Given the description of an element on the screen output the (x, y) to click on. 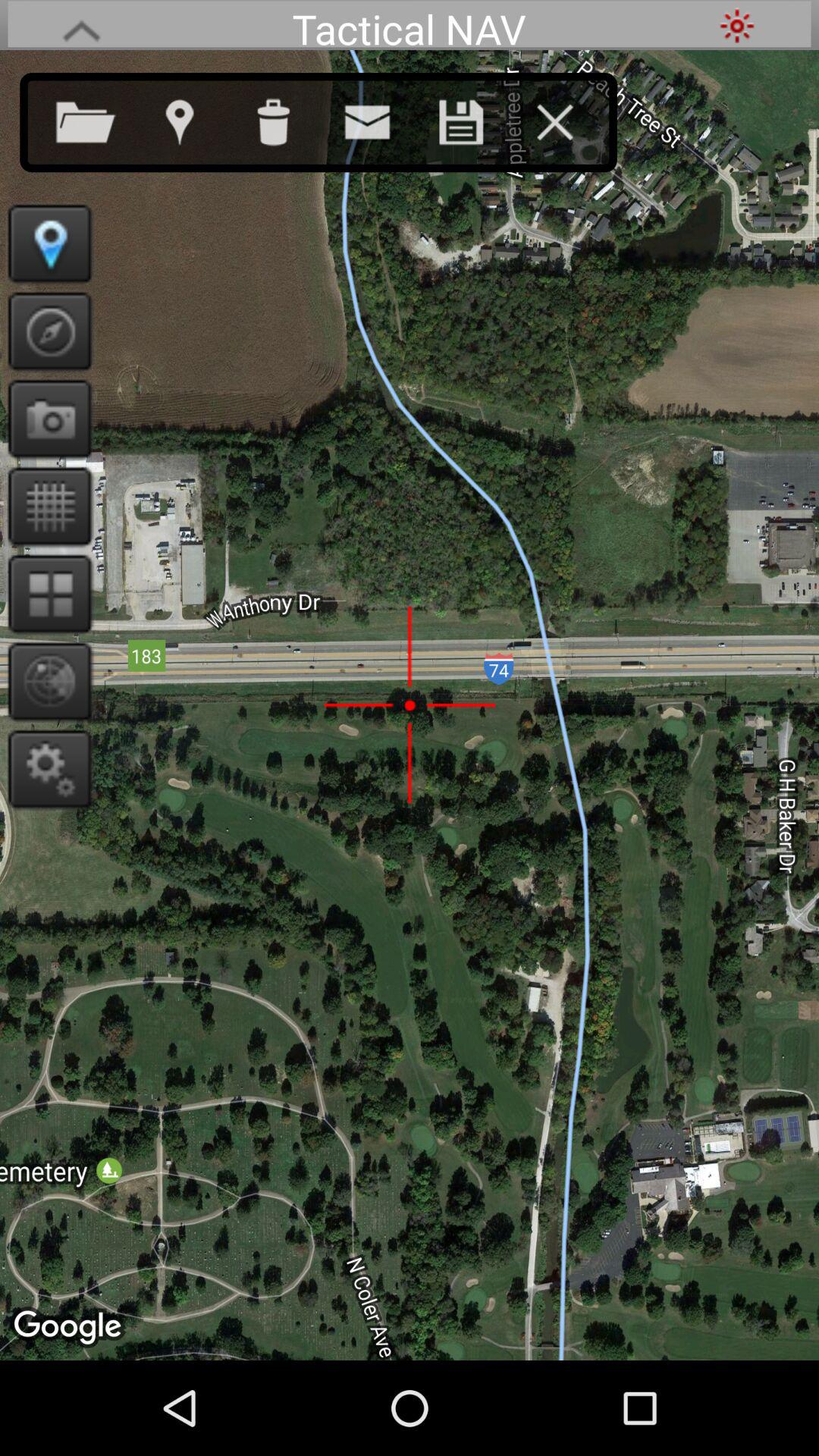
location (45, 243)
